Given the description of an element on the screen output the (x, y) to click on. 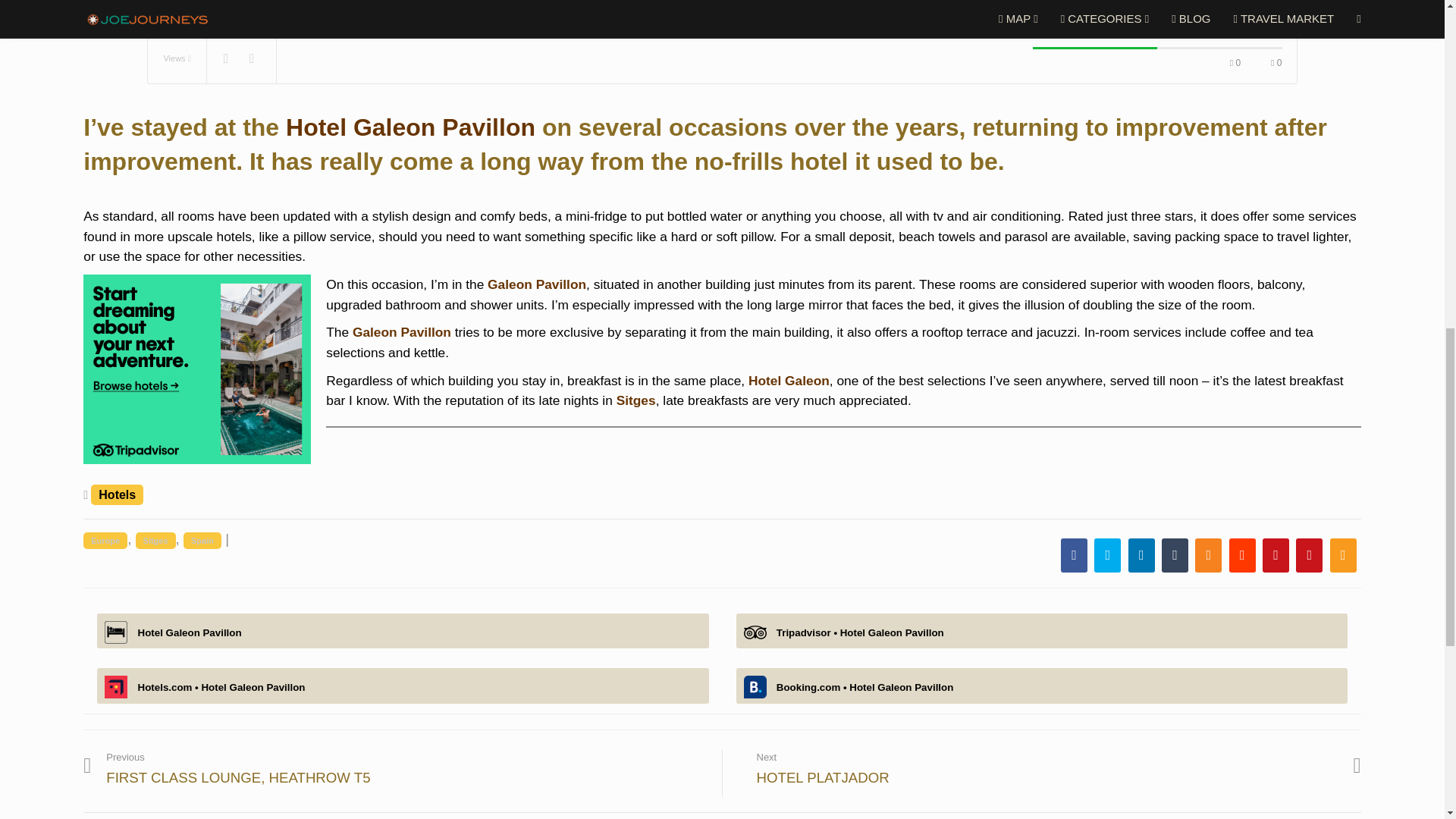
Galeon Pavillon (401, 331)
Hotel Galeon (788, 380)
Hotel Platjador (1047, 767)
Galeon Pavillon (536, 283)
Hotel  (319, 139)
First Class Lounge, Heathrow T5 (237, 773)
Galeon Pavillon (444, 139)
